Given the description of an element on the screen output the (x, y) to click on. 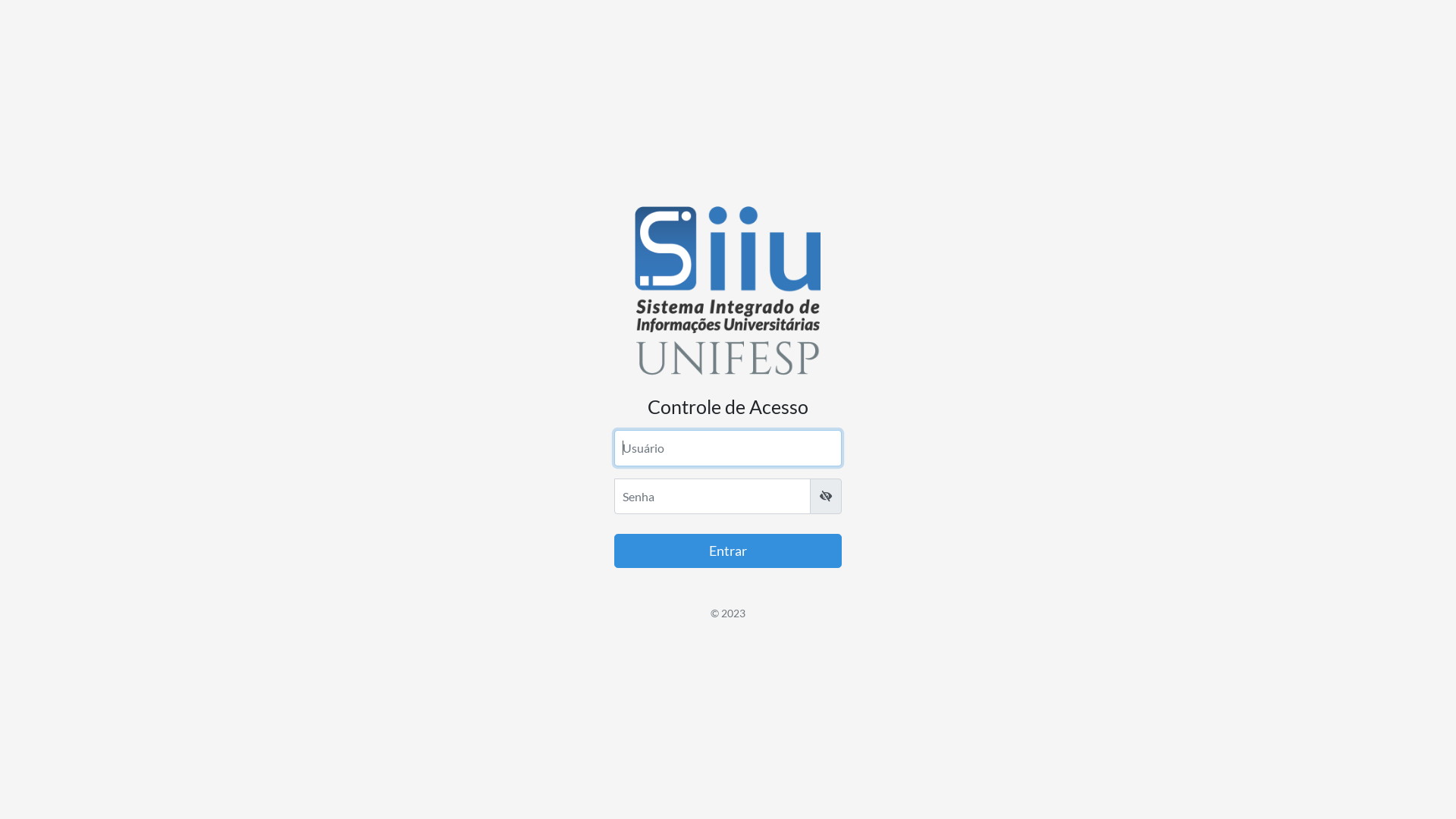
Entrar Element type: text (727, 550)
